Given the description of an element on the screen output the (x, y) to click on. 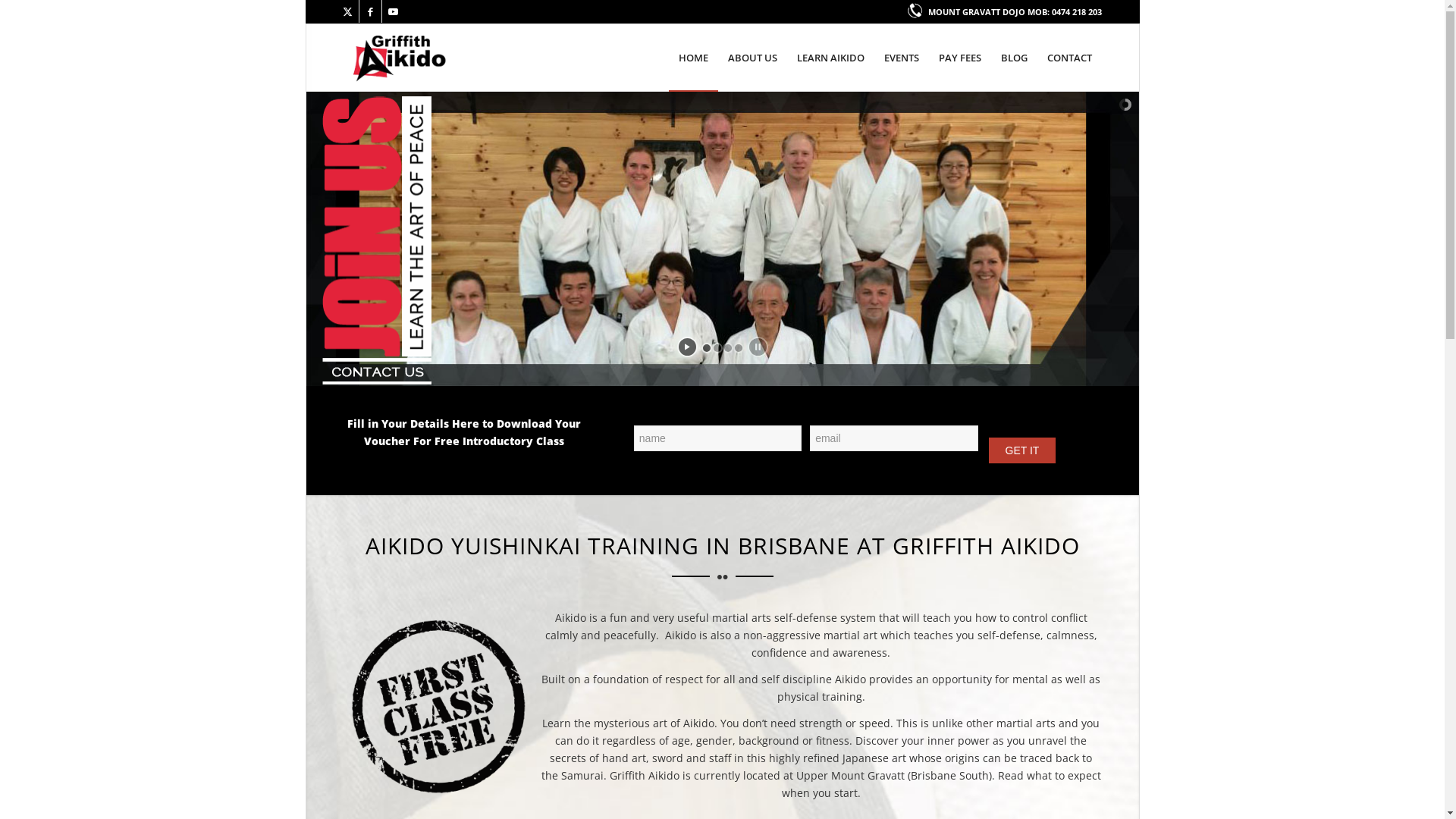
CONTACT Element type: text (1069, 57)
BLOG Element type: text (1013, 57)
Twitter Element type: hover (347, 11)
Facebook Element type: hover (370, 11)
PAY FEES Element type: text (959, 57)
ABOUT US Element type: text (751, 57)
GET IT Element type: text (1022, 450)
EVENTS Element type: text (900, 57)
LEARN AIKIDO Element type: text (830, 57)
griffith aikido logo_transparent Element type: hover (398, 57)
HOME Element type: text (693, 57)
Youtube Element type: hover (393, 11)
